Given the description of an element on the screen output the (x, y) to click on. 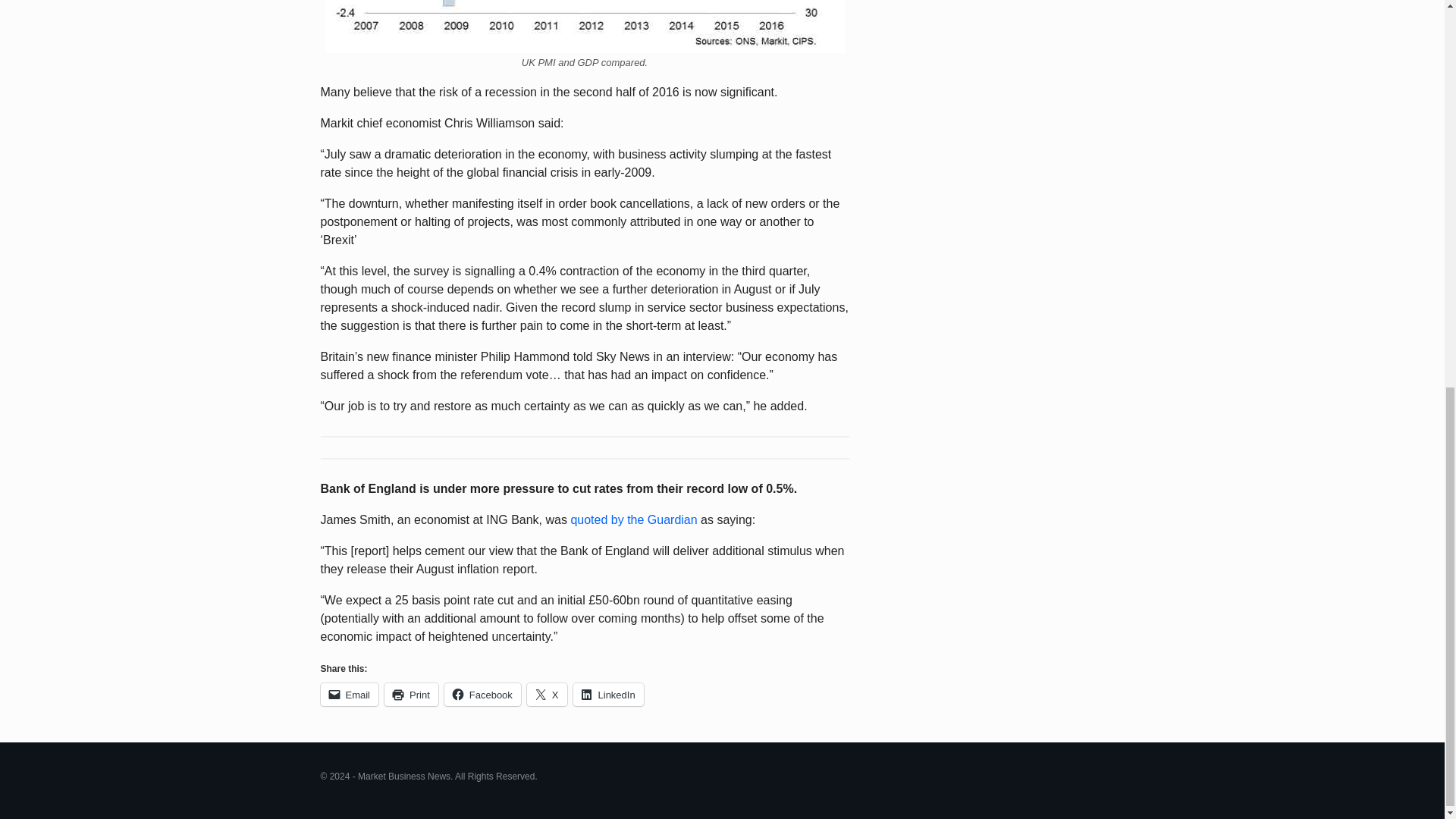
Click to share on LinkedIn (608, 694)
Email (349, 694)
quoted by the Guardian (633, 519)
Click to print (411, 694)
Print (411, 694)
X (547, 694)
Click to share on X (547, 694)
Click to email a link to a friend (349, 694)
LinkedIn (608, 694)
Facebook (482, 694)
Click to share on Facebook (482, 694)
